Given the description of an element on the screen output the (x, y) to click on. 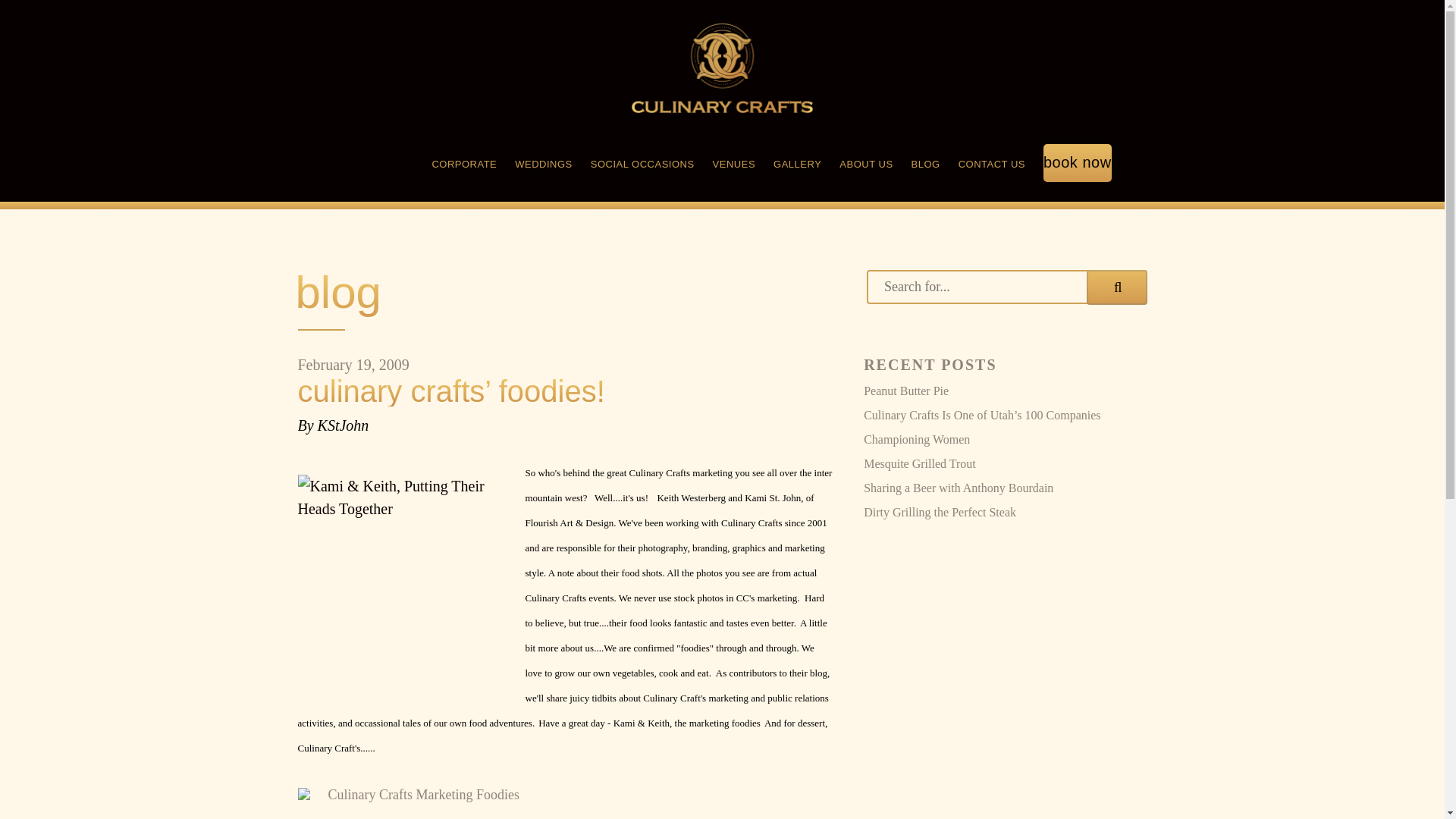
Peanut Butter Pie (1003, 391)
WEDDINGS (543, 165)
Search for... (1006, 286)
CORPORATE (463, 165)
Posts by KStJohn (343, 425)
KStJohn (343, 425)
GALLERY (797, 165)
CONTACT US (991, 165)
Culinary Crafts Marketing Foodies (422, 794)
SOCIAL OCCASIONS (642, 165)
book now (1077, 165)
ABOUT US (866, 165)
